Given the description of an element on the screen output the (x, y) to click on. 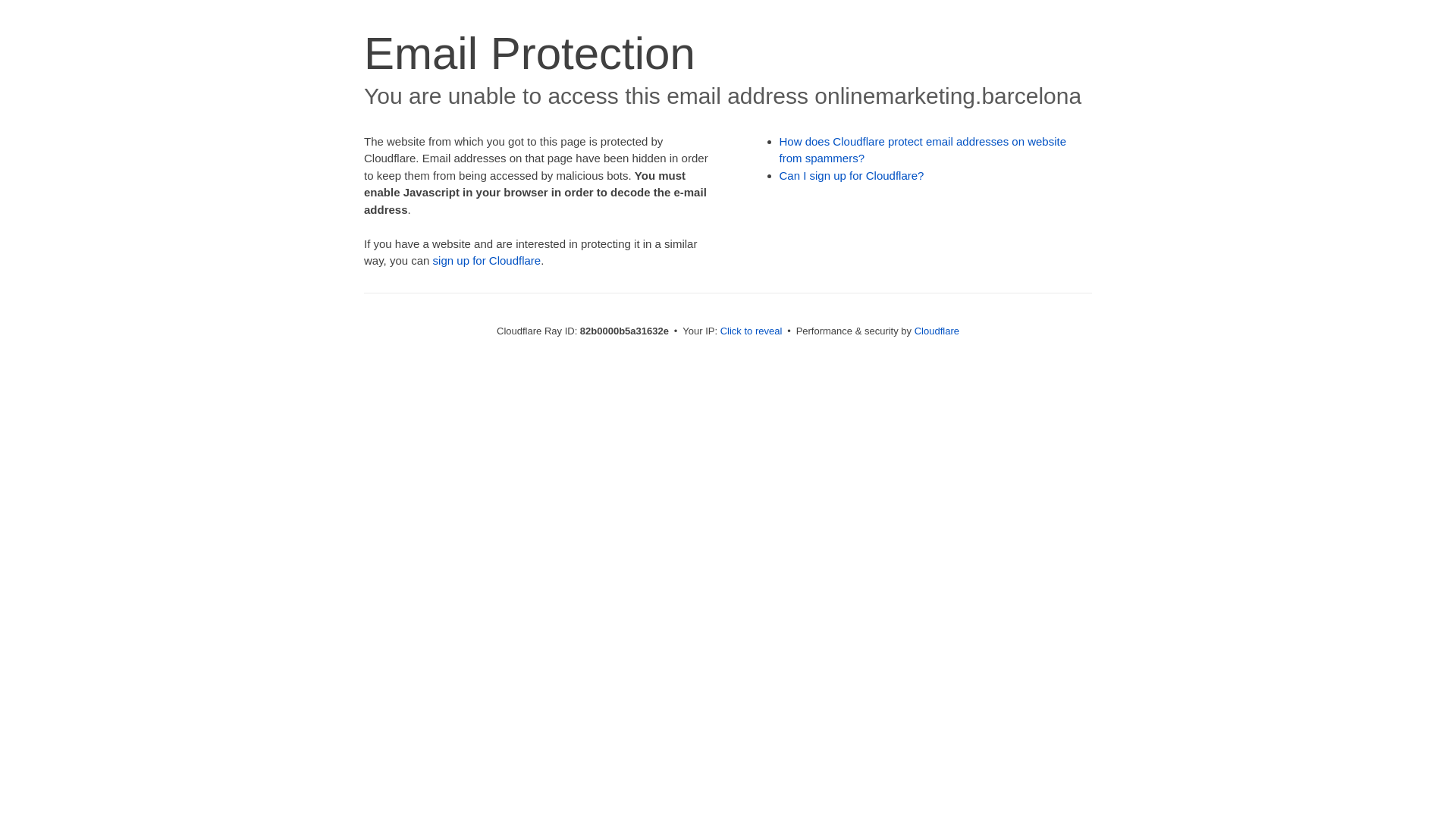
Can I sign up for Cloudflare? Element type: text (851, 175)
Click to reveal Element type: text (751, 330)
sign up for Cloudflare Element type: text (487, 260)
Cloudflare Element type: text (936, 330)
